Given the description of an element on the screen output the (x, y) to click on. 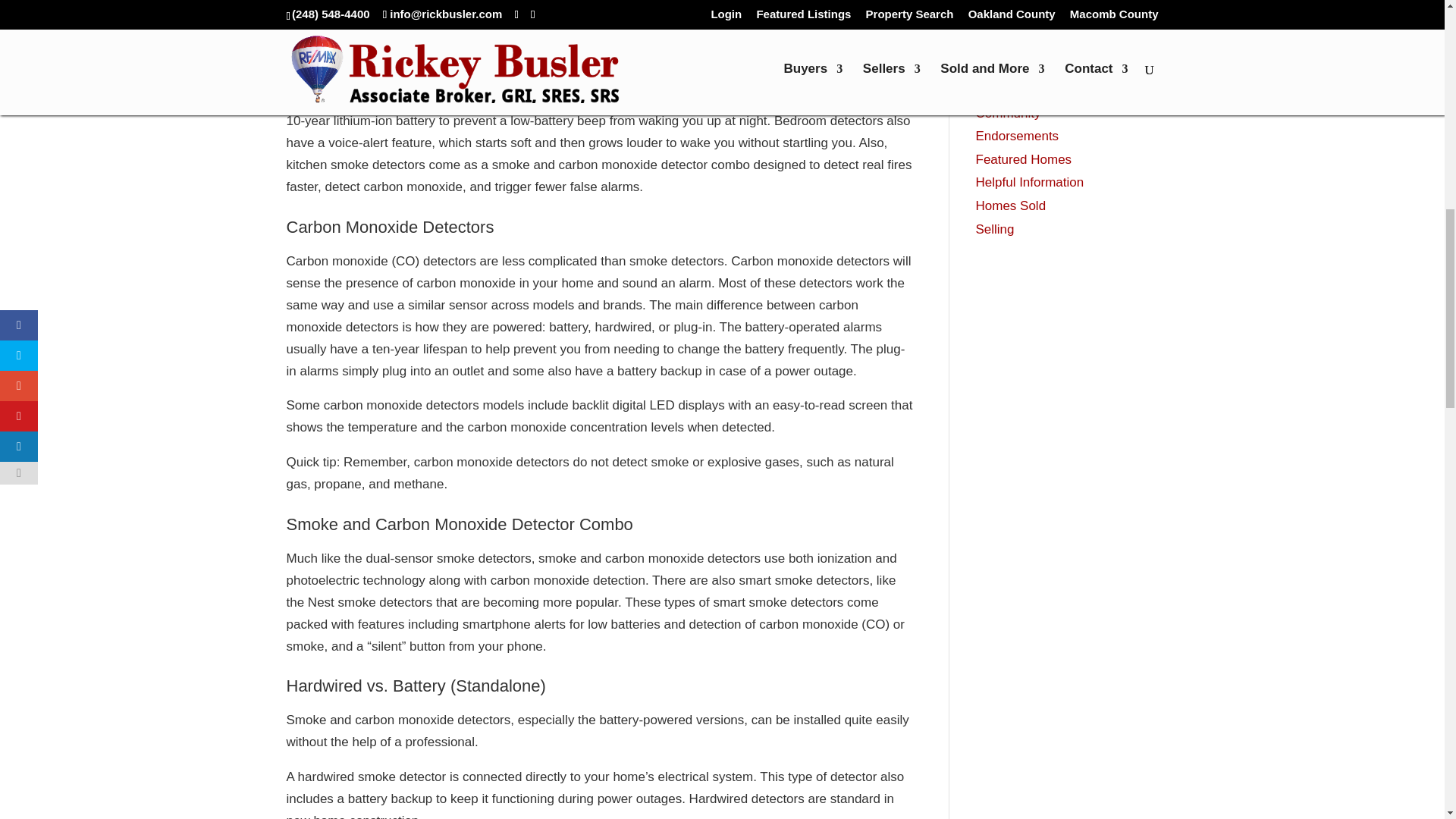
Calculate (1061, 6)
